Given the description of an element on the screen output the (x, y) to click on. 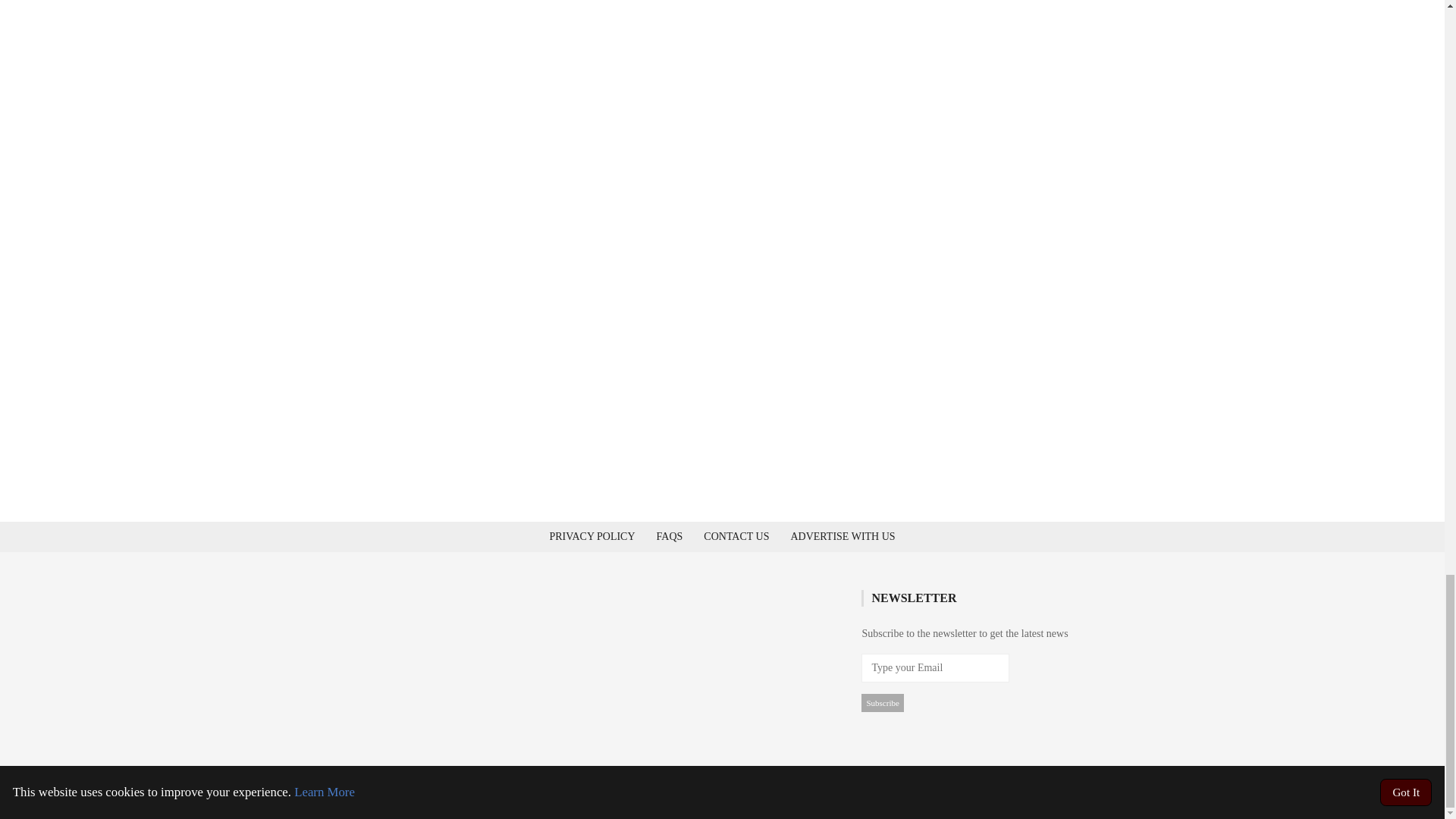
Subscribe (881, 702)
